Given the description of an element on the screen output the (x, y) to click on. 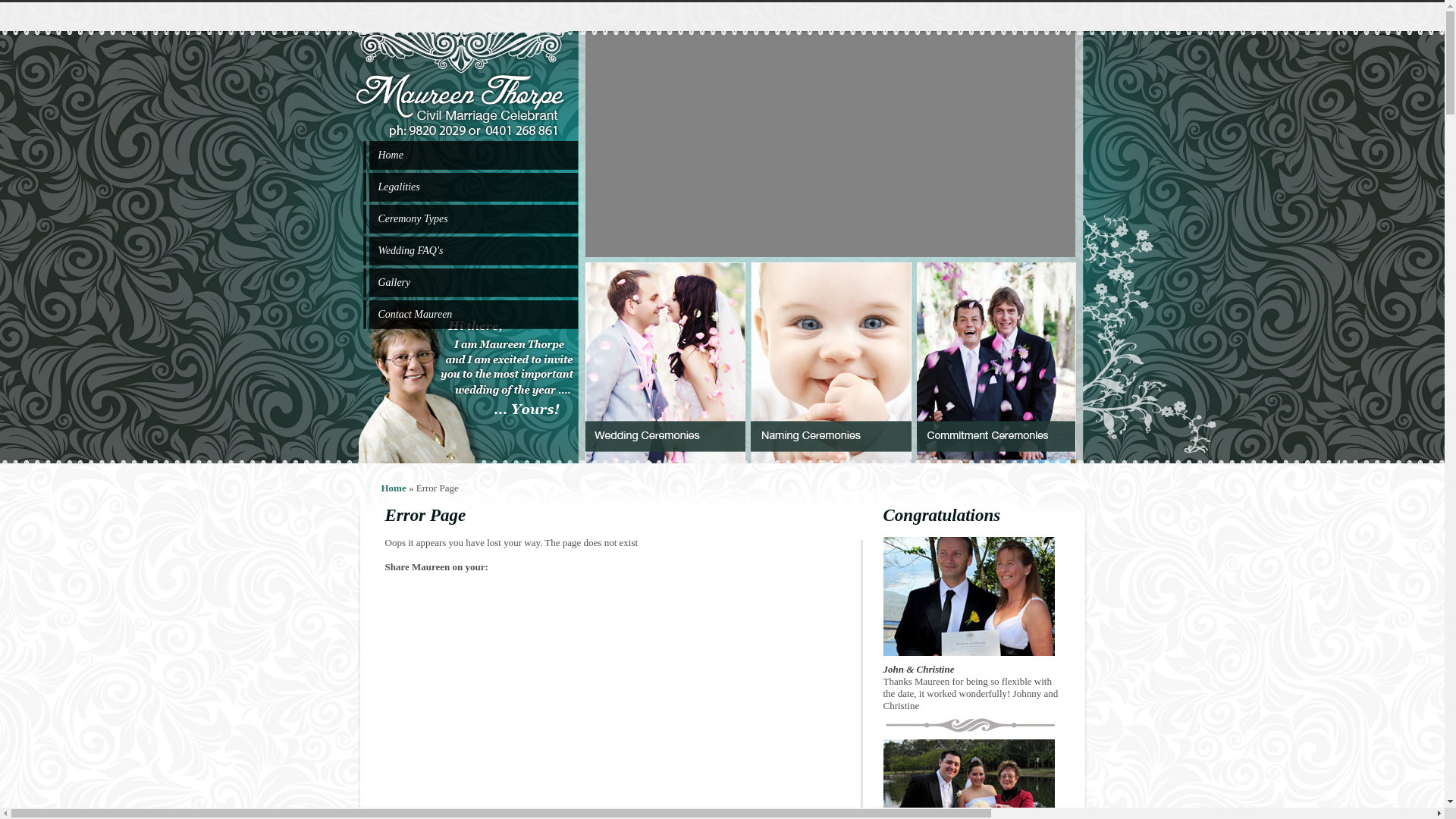
Home Element type: text (392, 487)
Gallery Element type: text (393, 282)
Ceremony Types Element type: text (412, 218)
Legalities Element type: text (398, 186)
Wedding FAQ's Element type: text (409, 250)
Contact Maureen Element type: text (414, 314)
Home Element type: text (389, 154)
